Given the description of an element on the screen output the (x, y) to click on. 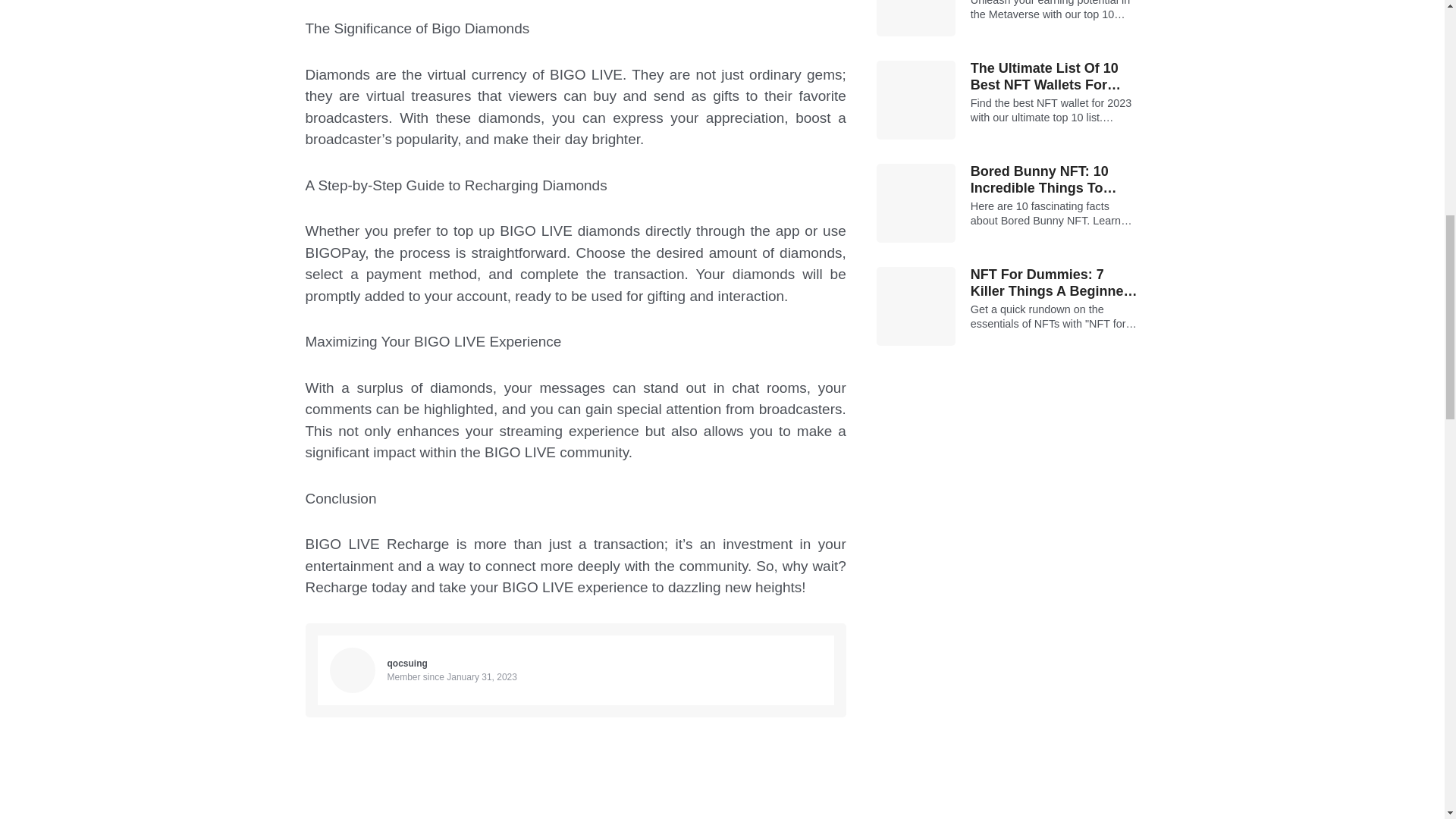
qocsuing (406, 663)
The Ultimate List Of 10 Best NFT Wallets For 2023 (1055, 76)
